Given the description of an element on the screen output the (x, y) to click on. 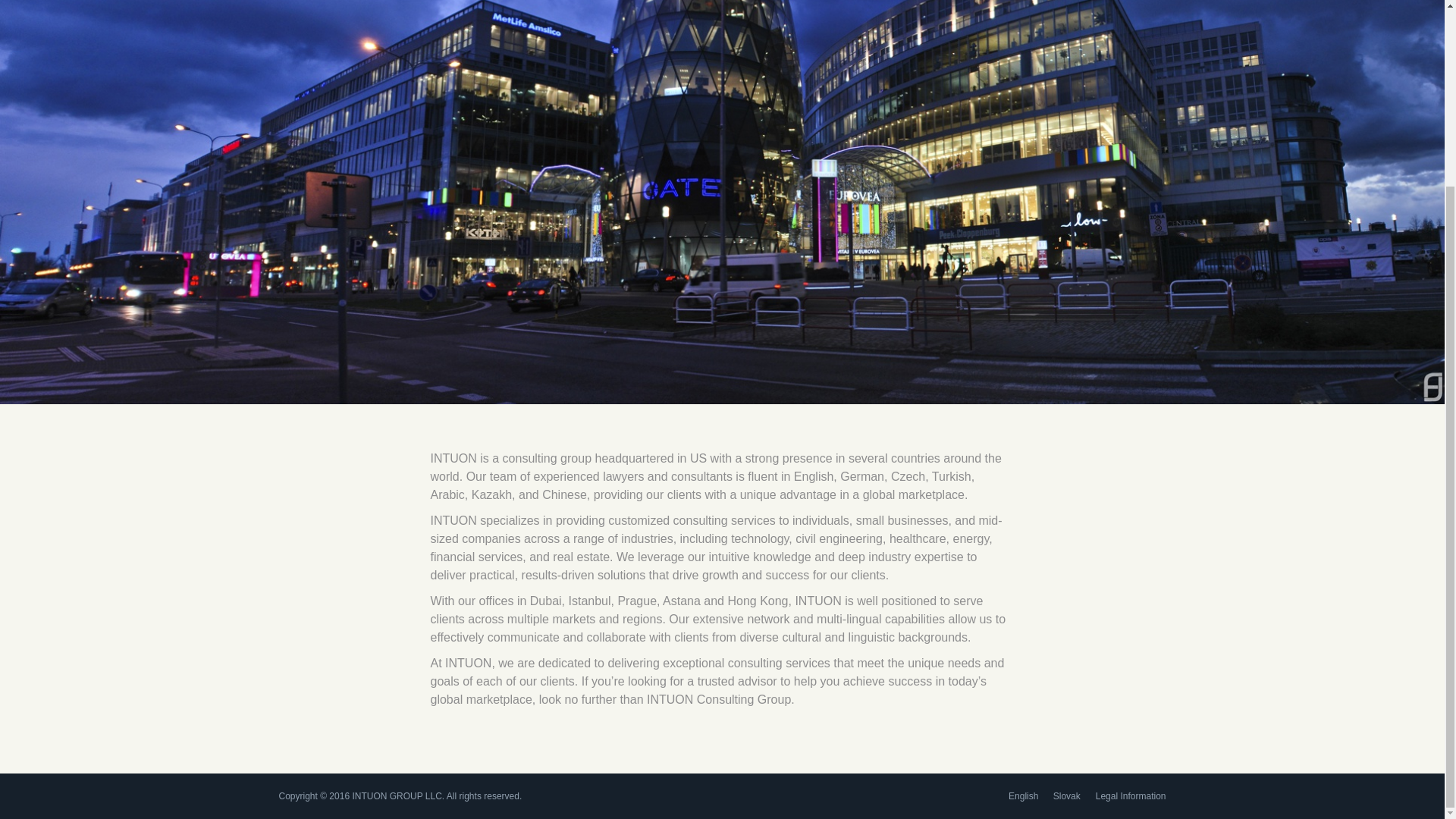
Legal Information (1131, 796)
Slovak (1066, 796)
English (1023, 796)
